Given the description of an element on the screen output the (x, y) to click on. 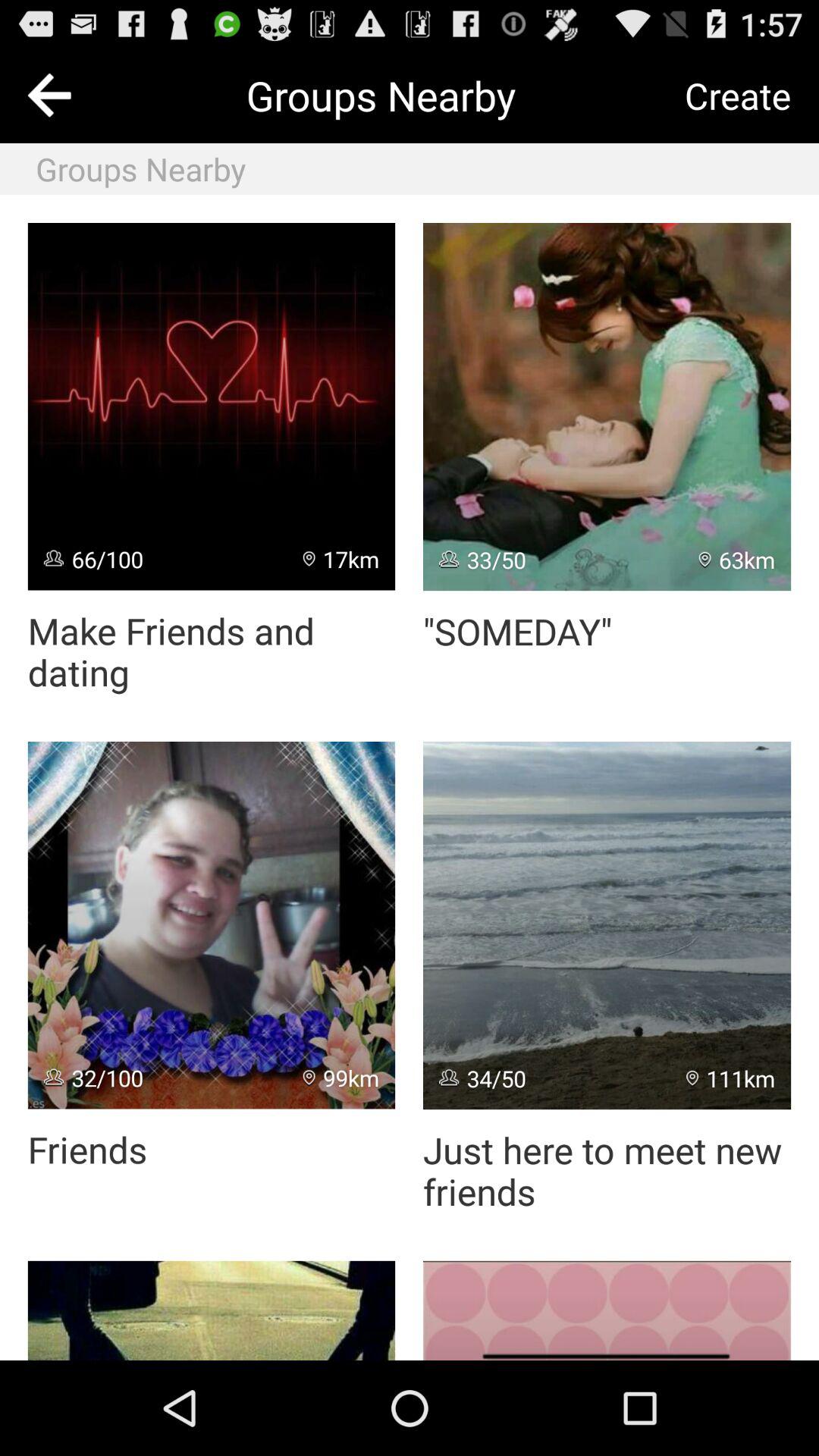
press the item to the right of 33/50 item (736, 559)
